Given the description of an element on the screen output the (x, y) to click on. 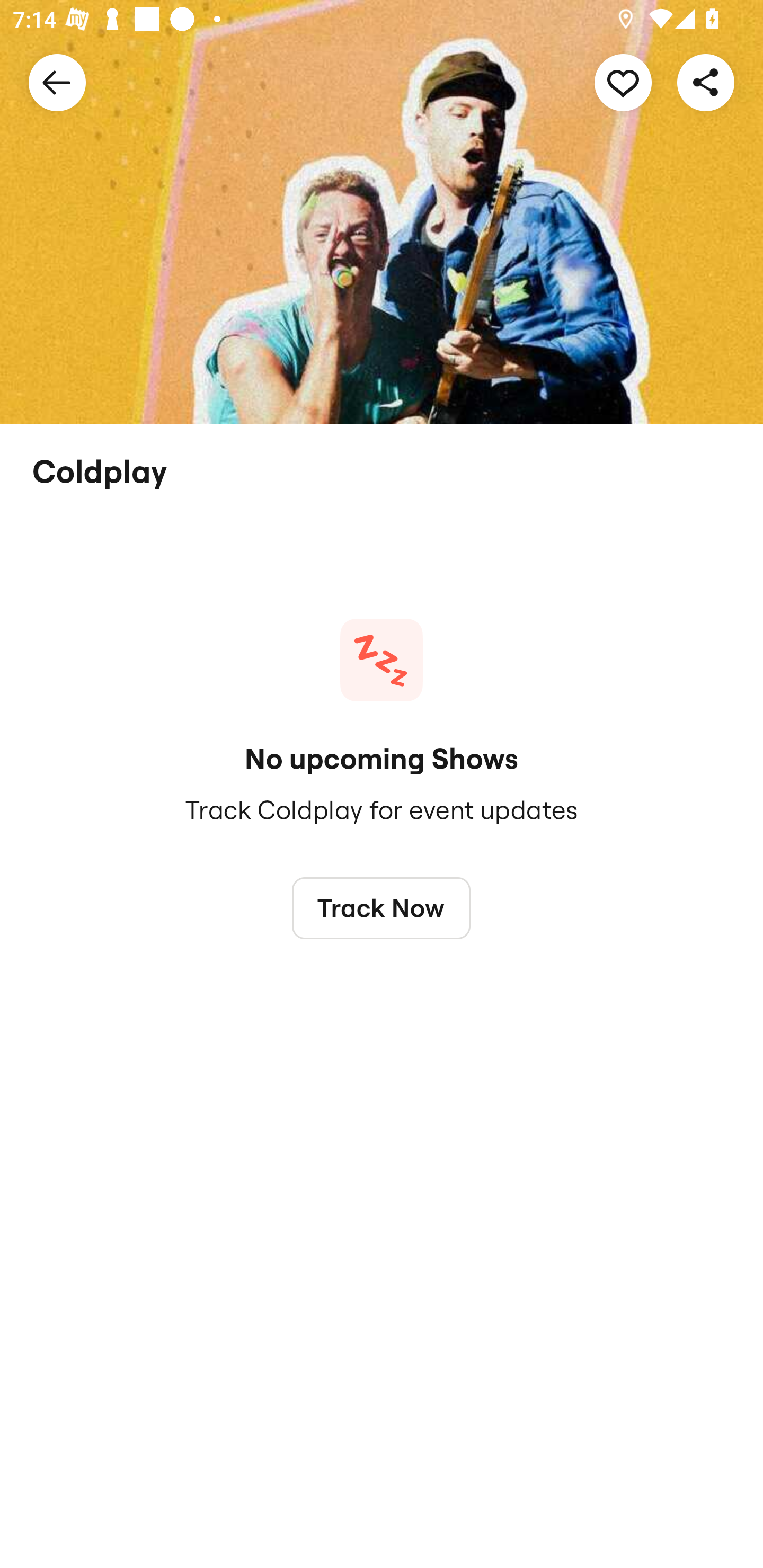
Back (57, 81)
Track this performer (623, 81)
Share this performer (705, 81)
Track Now (381, 907)
